Given the description of an element on the screen output the (x, y) to click on. 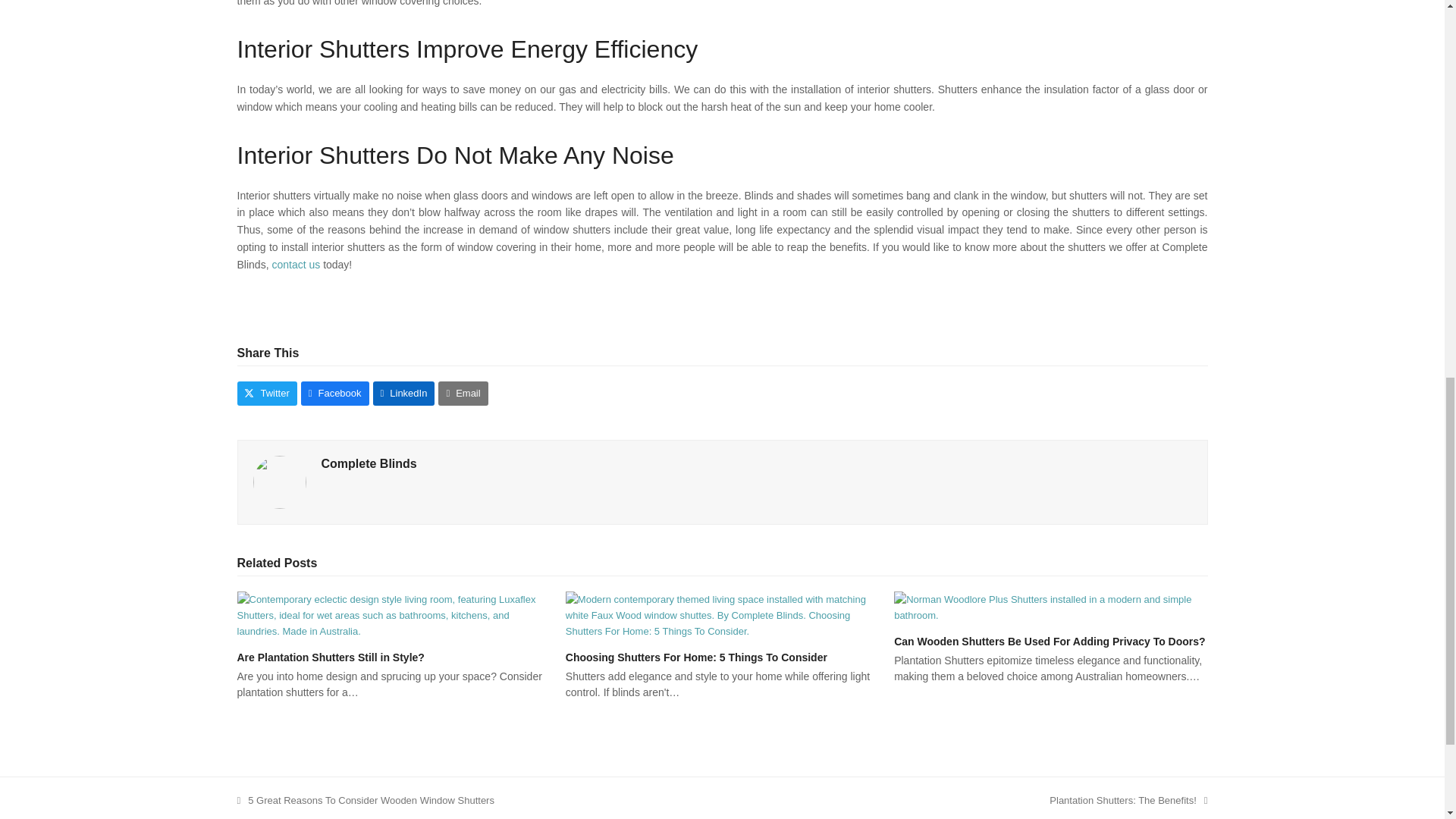
Facebook (335, 392)
Email (462, 392)
Choosing Shutters For Home: 5 Things To Consider (722, 614)
Contact Complete Blinds Today (296, 264)
Twitter (266, 392)
LinkedIn (403, 392)
Are Plantation Shutters Still in Style? (329, 657)
contact us (296, 264)
Choosing Shutters For Home: 5 Things To Consider (1128, 800)
Can Wooden Shutters Be Used For Adding Privacy To Doors? (696, 657)
Can Wooden Shutters Be Used For Adding Privacy To Doors? (1050, 605)
Are Plantation Shutters Still in Style? (1049, 641)
